Given the description of an element on the screen output the (x, y) to click on. 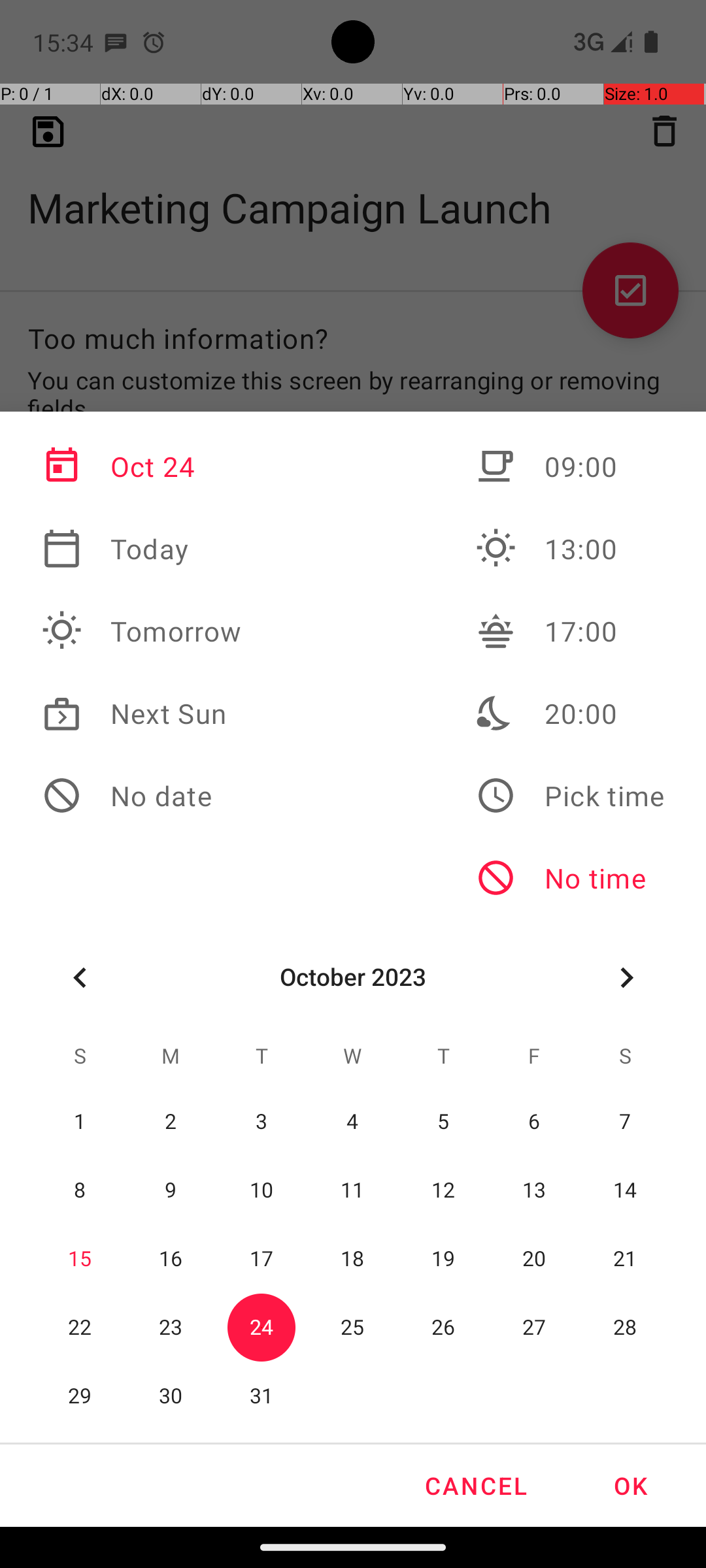
Oct 24 Element type: android.widget.CompoundButton (141, 466)
